Given the description of an element on the screen output the (x, y) to click on. 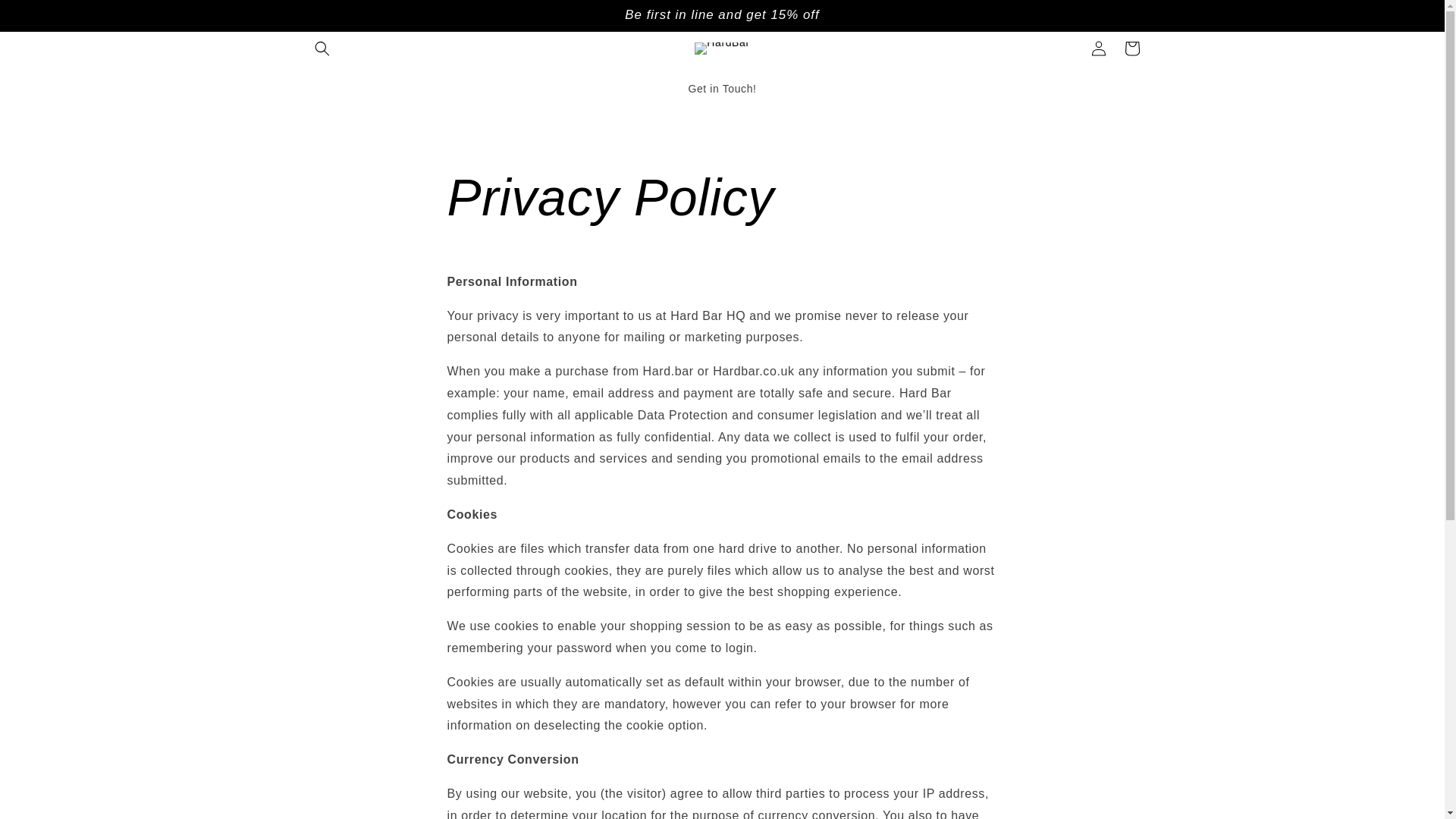
Get in Touch! (721, 88)
Skip to content (45, 17)
Log in (1098, 48)
Cart (1131, 48)
